Given the description of an element on the screen output the (x, y) to click on. 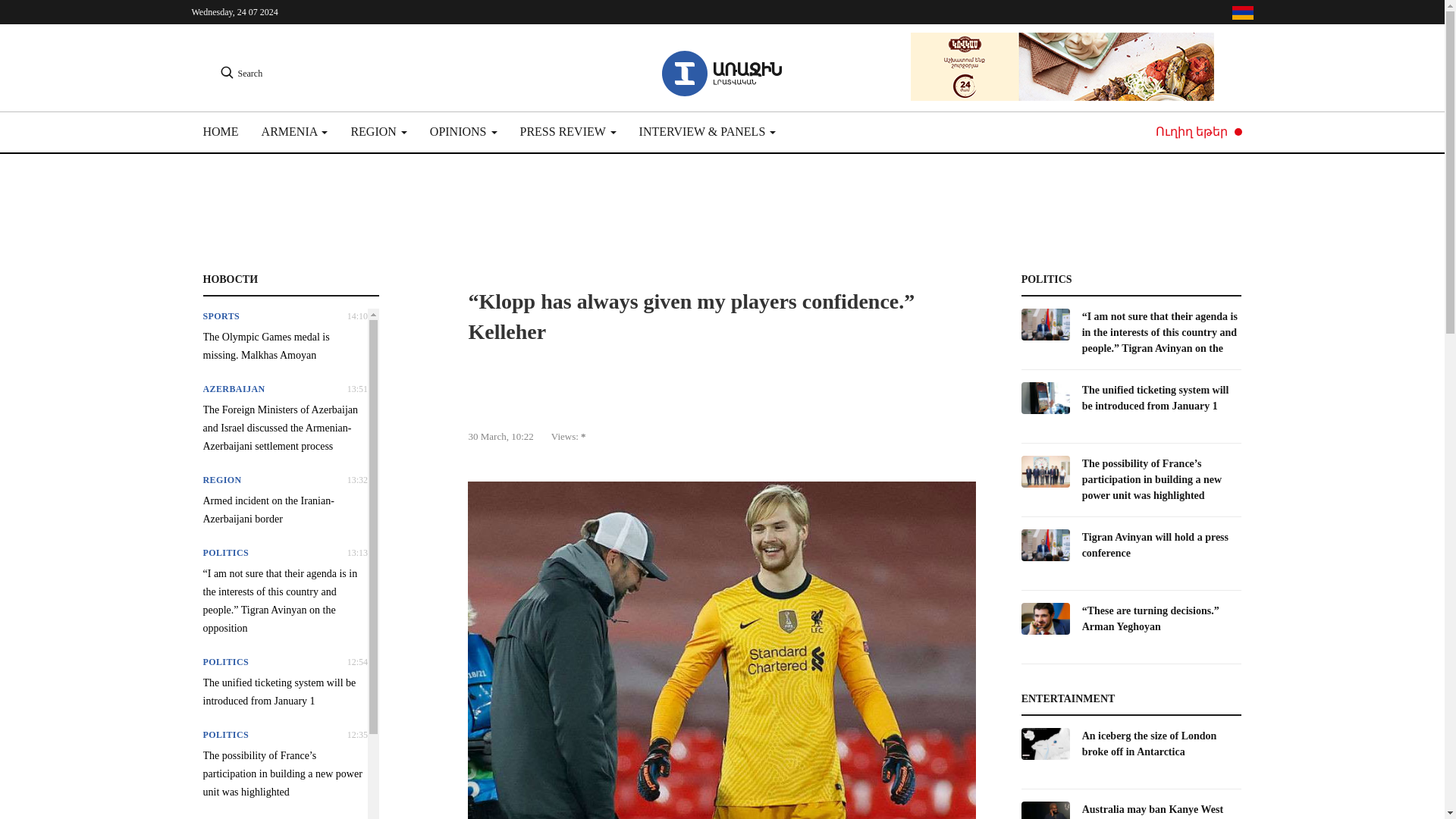
REGION (222, 480)
The Olympic Games medal is missing. Malkhas Amoyan (285, 346)
POLITICS (225, 552)
HOME (226, 132)
Search (240, 73)
OPINIONS (463, 132)
Armed incident on the Iranian-Azerbaijani border (285, 510)
ARMENIA (294, 132)
PRESS REVIEW (567, 132)
SPORTS (221, 316)
AZERBAIJAN (233, 388)
3rd party ad content (466, 223)
REGION (378, 132)
